Given the description of an element on the screen output the (x, y) to click on. 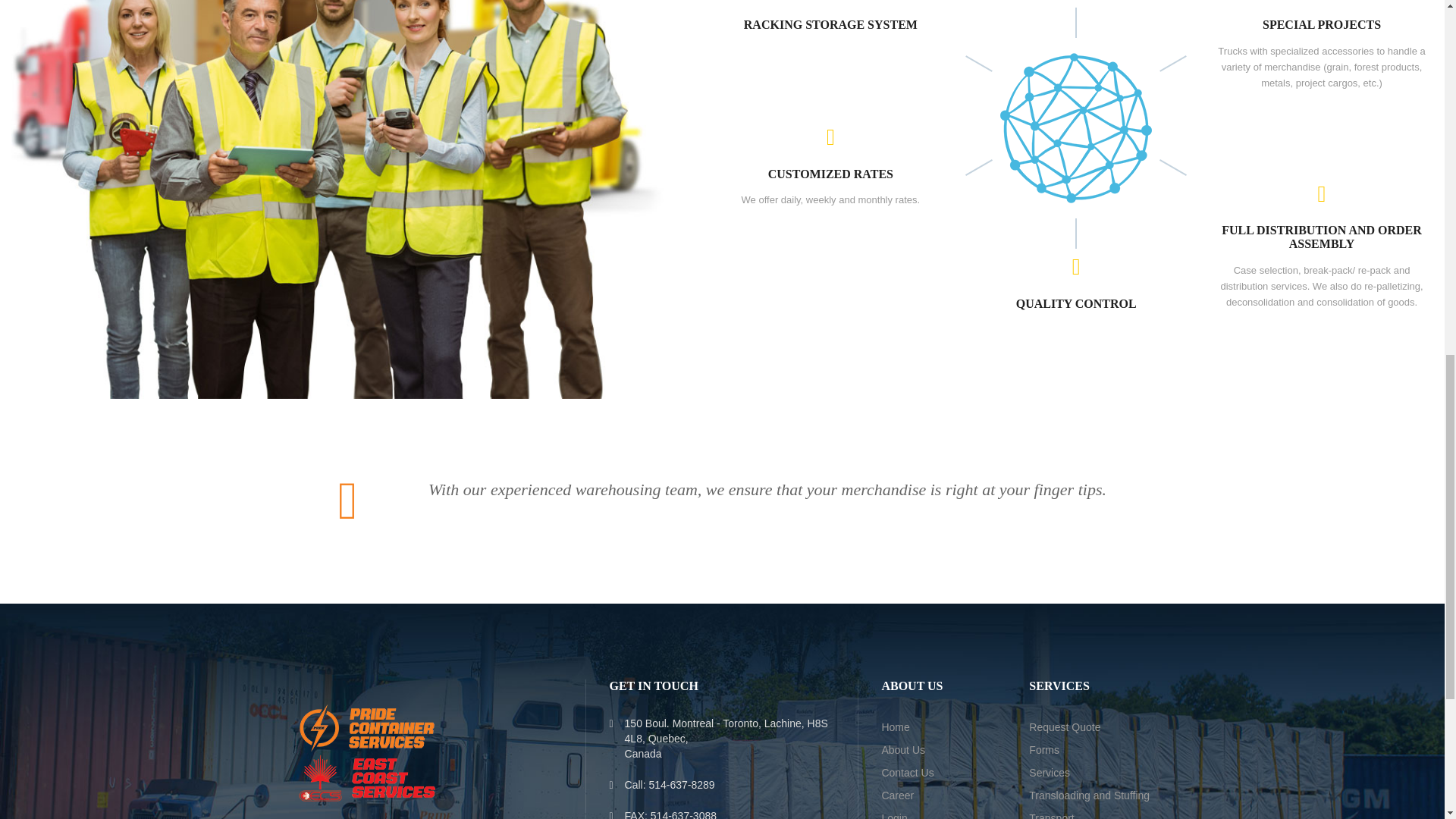
Transport (1051, 815)
Forms (1044, 749)
Career (897, 795)
About Us (902, 749)
Transloading and Stuffing (1089, 795)
Home (894, 727)
Login (893, 815)
Request Quote (1064, 727)
Services (1049, 772)
Contact Us (906, 772)
